Given the description of an element on the screen output the (x, y) to click on. 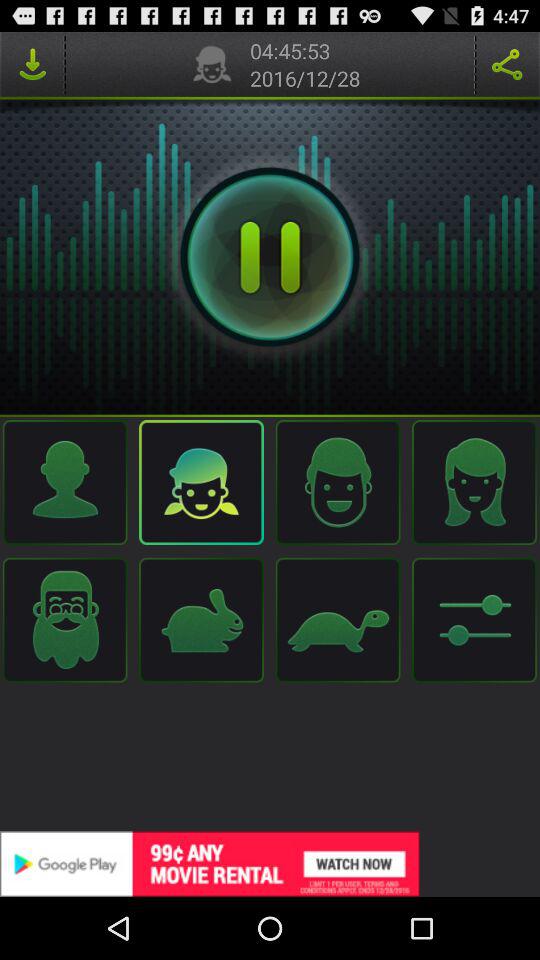
download selected sound (32, 64)
